Given the description of an element on the screen output the (x, y) to click on. 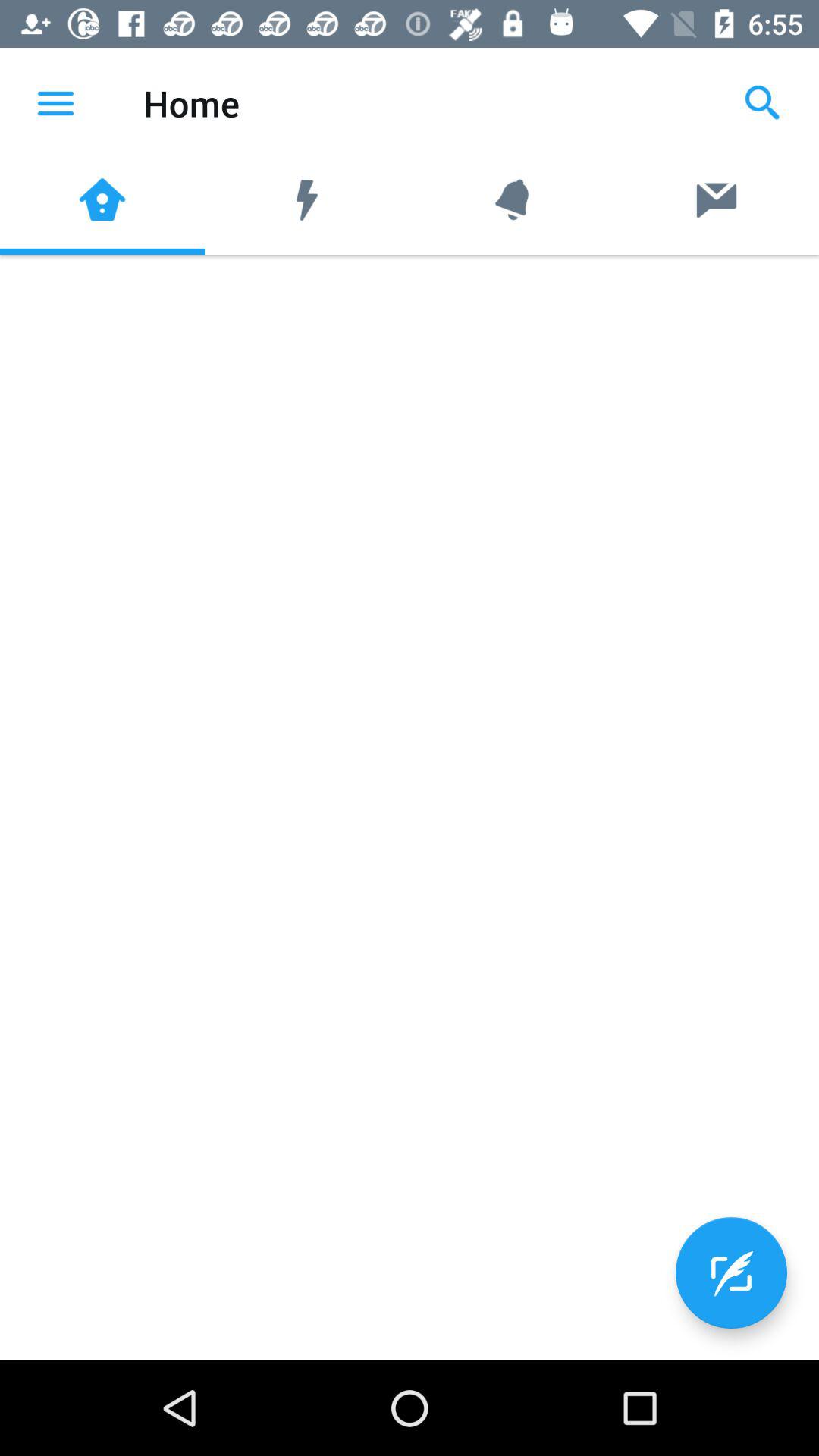
turn on item at the bottom right corner (731, 1272)
